Given the description of an element on the screen output the (x, y) to click on. 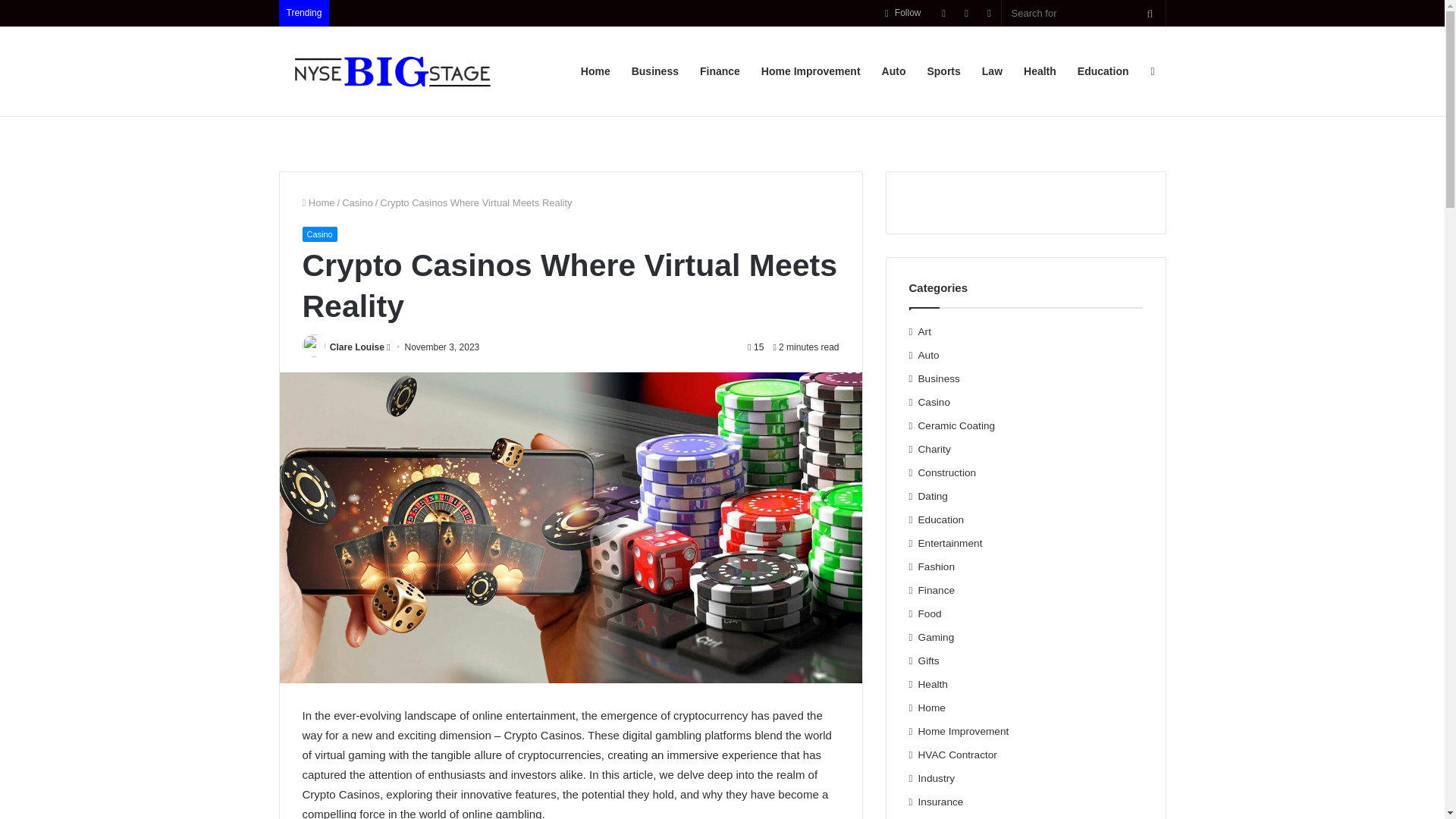
Casino (357, 202)
Home Improvement (810, 71)
Home (317, 202)
Casino (318, 233)
Search for (1082, 13)
Follow (902, 13)
Clare Louise (357, 347)
